Given the description of an element on the screen output the (x, y) to click on. 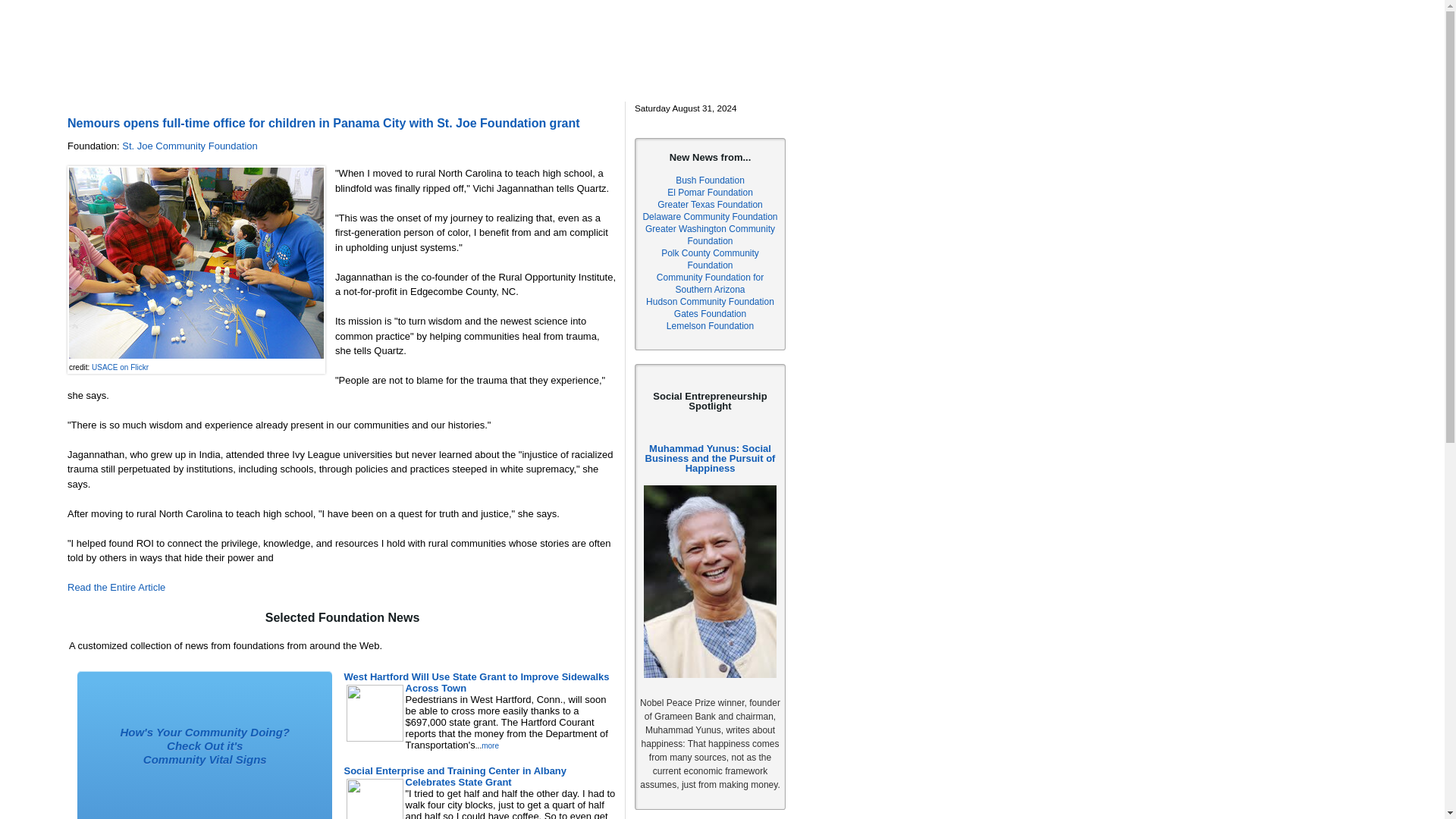
USACE on Flickr (119, 367)
St. Joe Community Foundation (189, 145)
more (490, 746)
Read the Entire Article (115, 586)
